Given the description of an element on the screen output the (x, y) to click on. 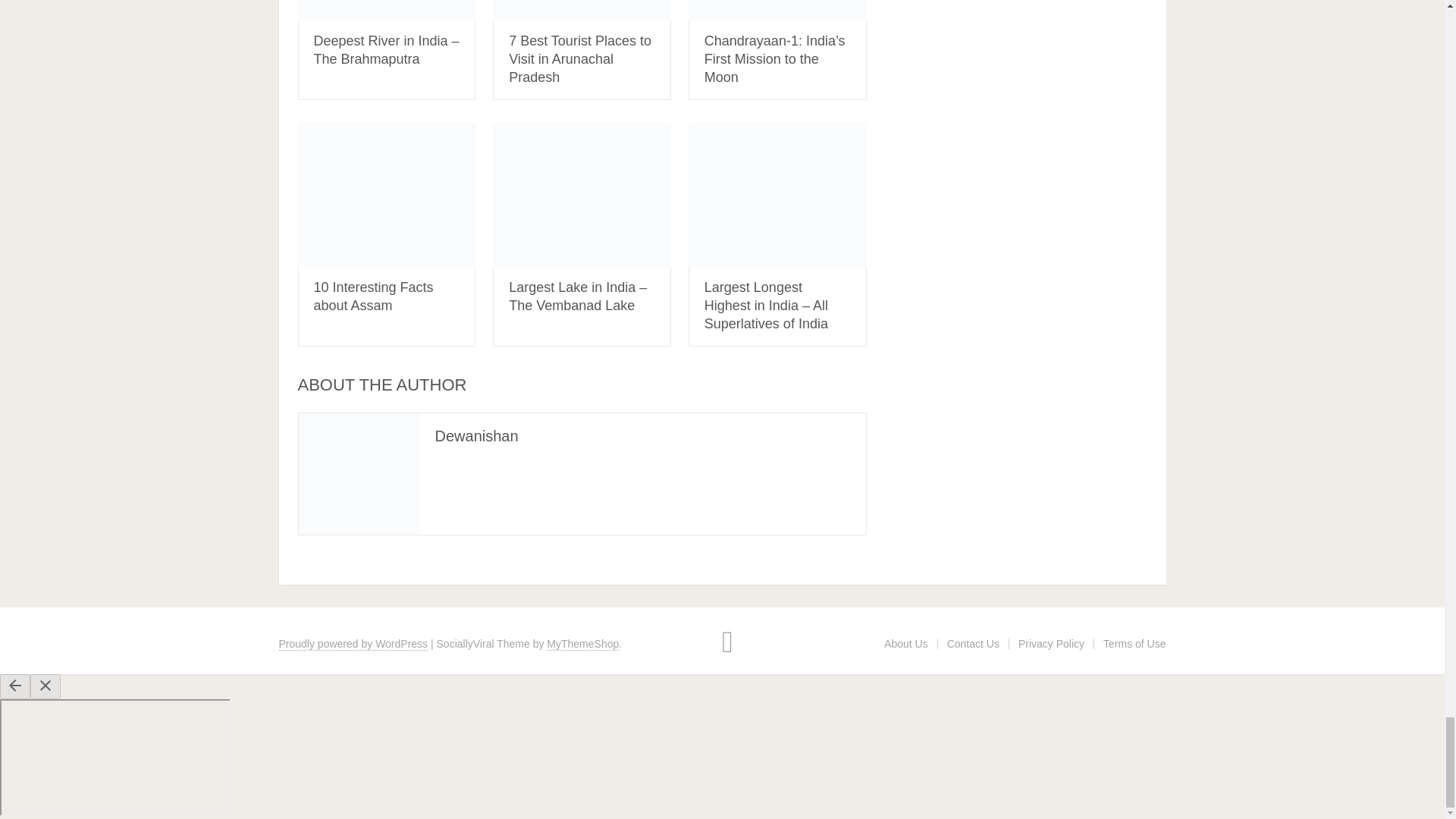
10 Interesting Facts about Assam (386, 194)
7 Best Tourist Places to Visit in Arunachal Pradesh (582, 10)
